Given the description of an element on the screen output the (x, y) to click on. 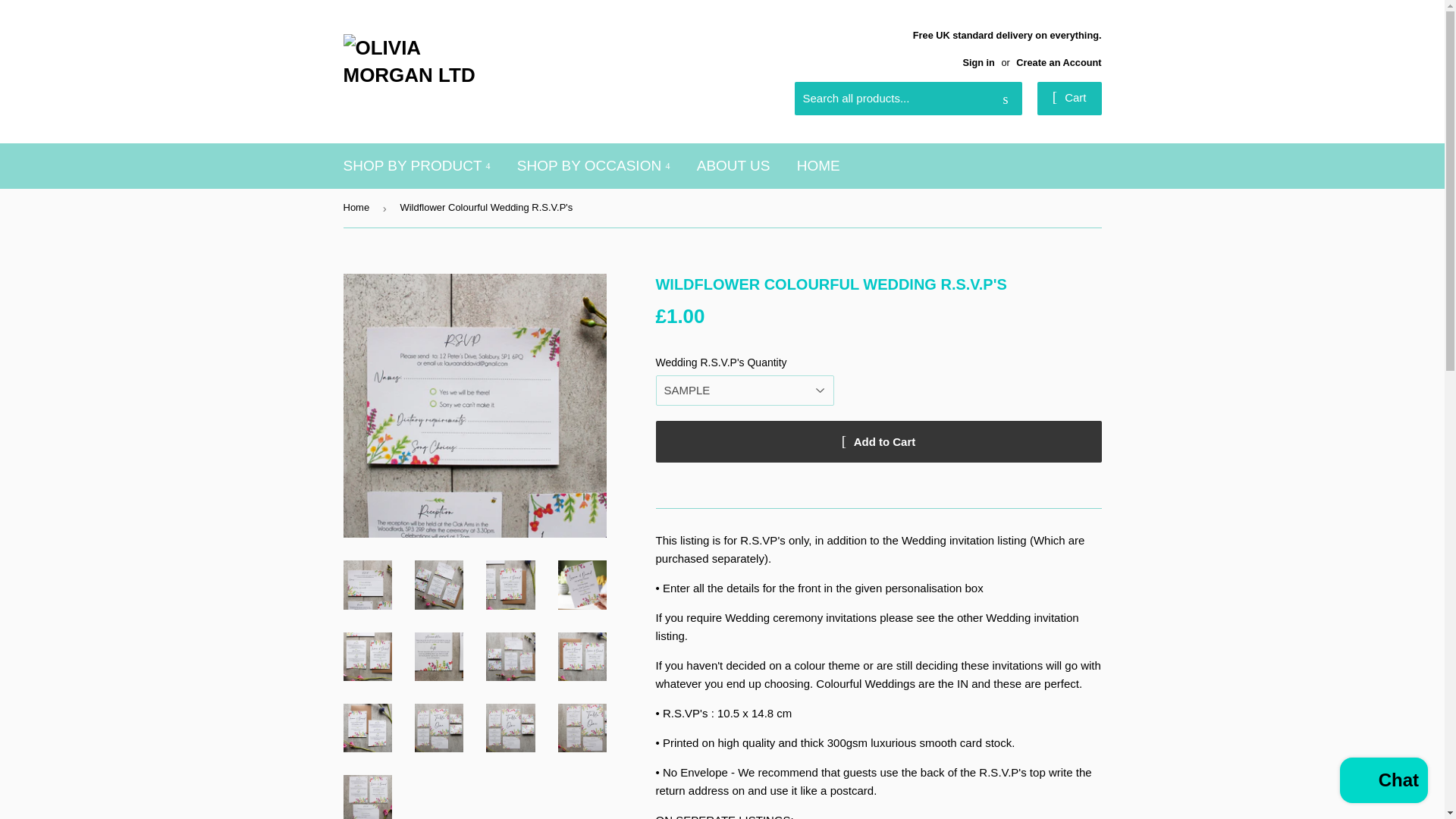
Search (1005, 99)
Shopify online store chat (1383, 781)
Free UK standard delivery on everything. (1007, 47)
Create an Account (1058, 61)
Sign in (978, 61)
Cart (1069, 98)
